Given the description of an element on the screen output the (x, y) to click on. 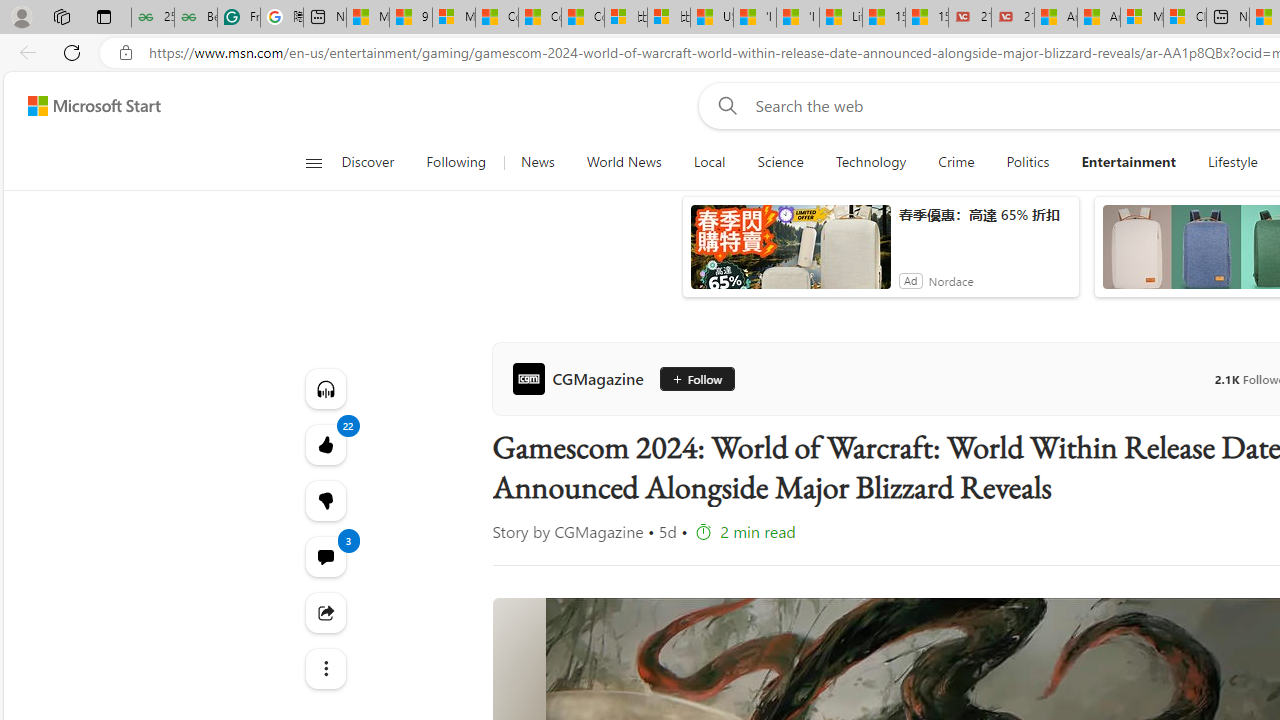
Share this story (324, 612)
Cloud Computing Services | Microsoft Azure (1184, 17)
